Given the description of an element on the screen output the (x, y) to click on. 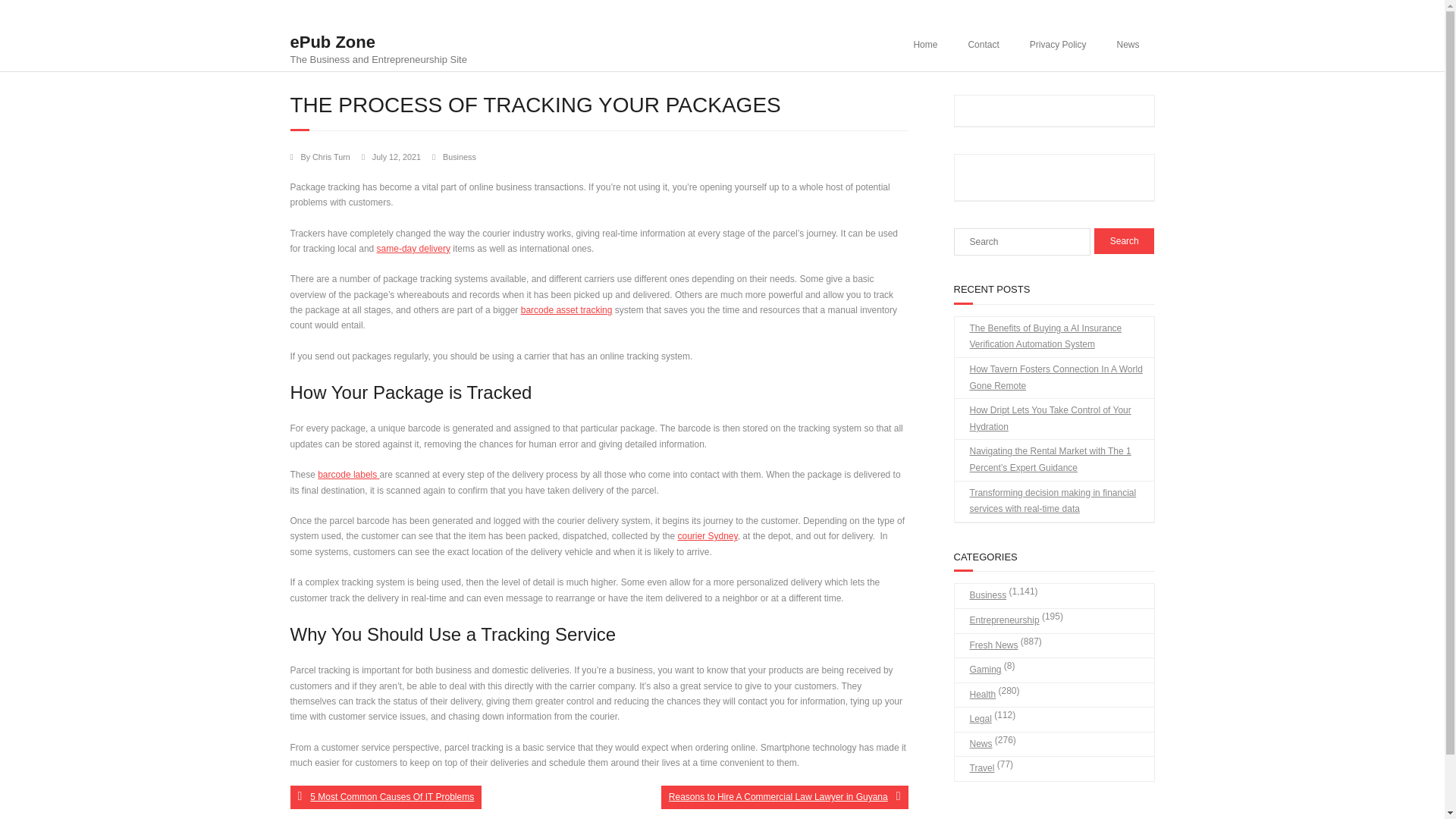
How Dript Lets You Take Control of Your Hydration (1053, 418)
Legal (972, 719)
July 12, 2021 (396, 156)
Home (925, 44)
Reasons to Hire A Commercial Law Lawyer in Guyana (784, 796)
Health (974, 695)
How Tavern Fosters Connection In A World Gone Remote (1053, 377)
barcode labels (347, 474)
Search (1124, 240)
